Given the description of an element on the screen output the (x, y) to click on. 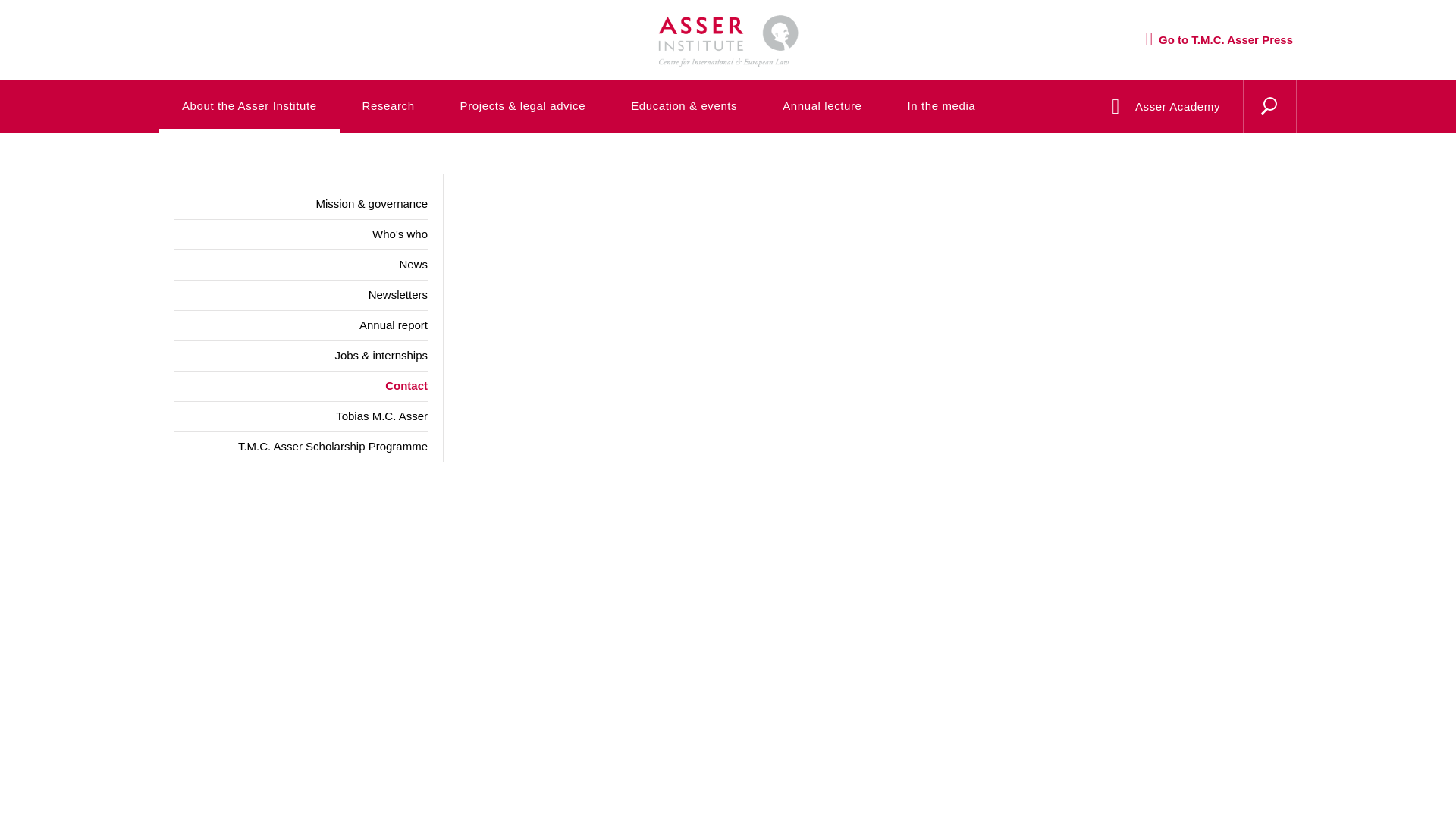
About the Asser Institute (248, 105)
Go to T.M.C. Asser Press (1218, 38)
Go back to T.M.C. Asser Instituut Homepage (727, 27)
